Given the description of an element on the screen output the (x, y) to click on. 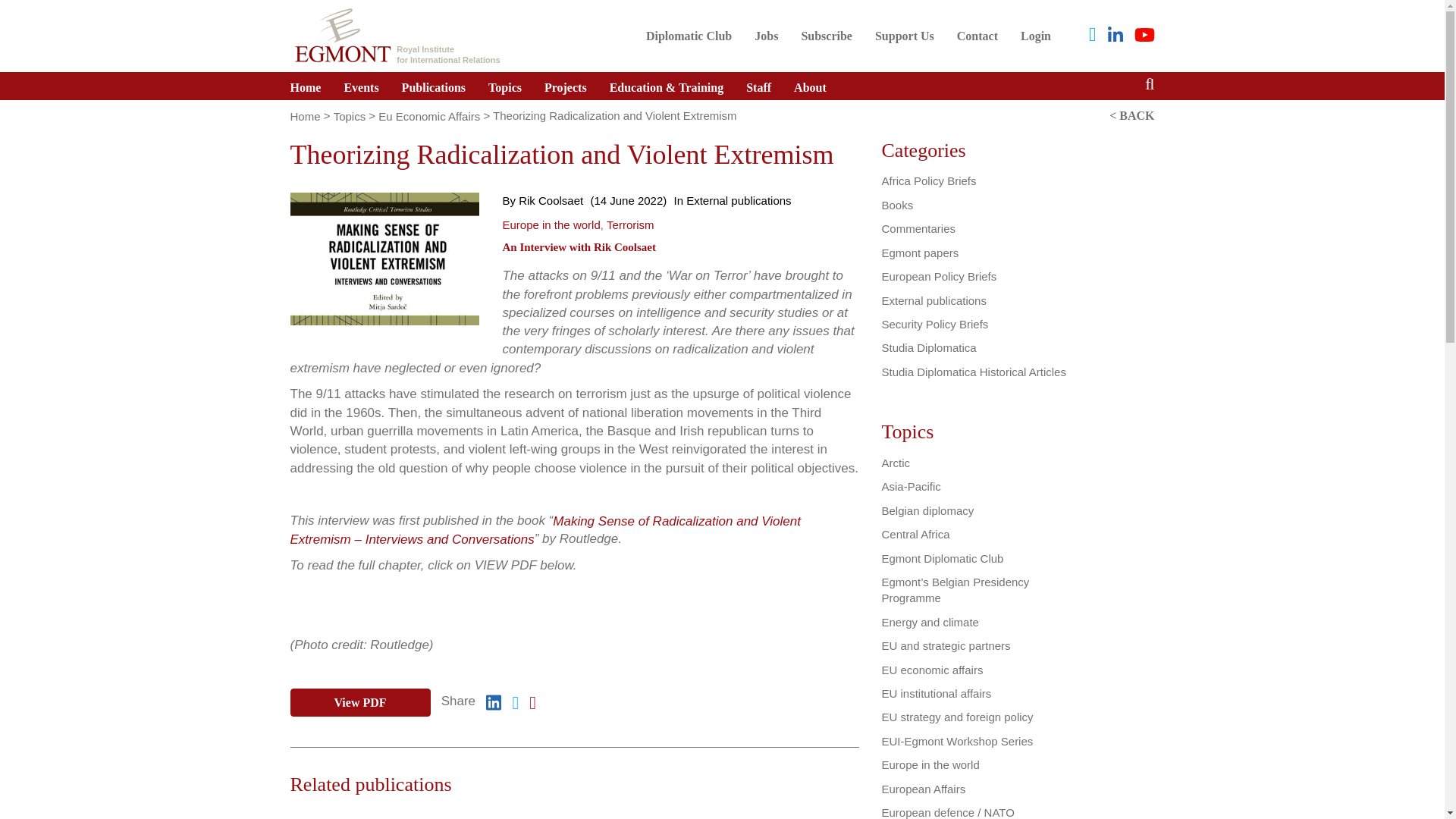
Contact (976, 35)
Staff (759, 85)
Projects (565, 85)
Subscribe (826, 35)
About (810, 85)
Publications (433, 85)
Contact (976, 35)
Diplomatic Club (688, 35)
Home (310, 85)
Topics (504, 85)
Diplomatic Club (395, 33)
Subscribe (688, 35)
Events (826, 35)
Support Us (360, 85)
